Given the description of an element on the screen output the (x, y) to click on. 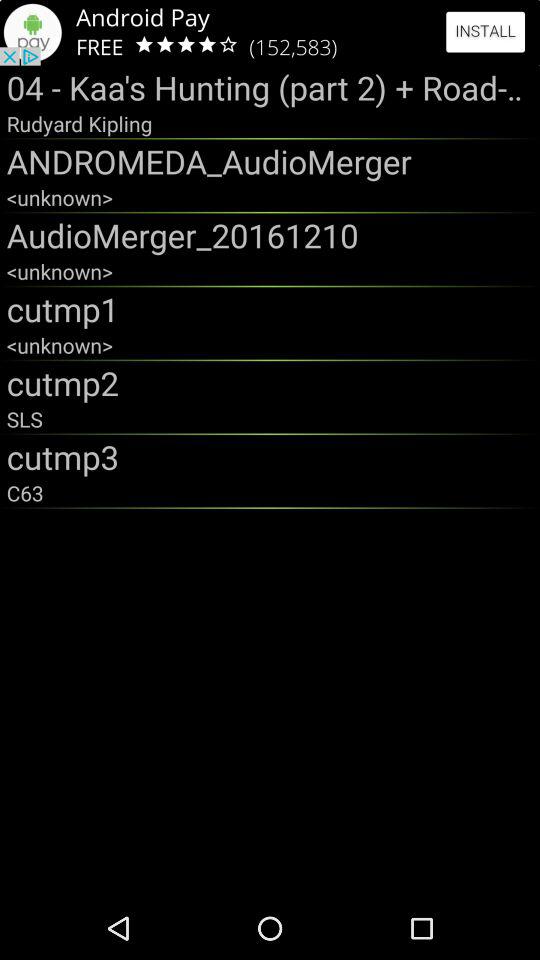
advertisement (270, 32)
